Given the description of an element on the screen output the (x, y) to click on. 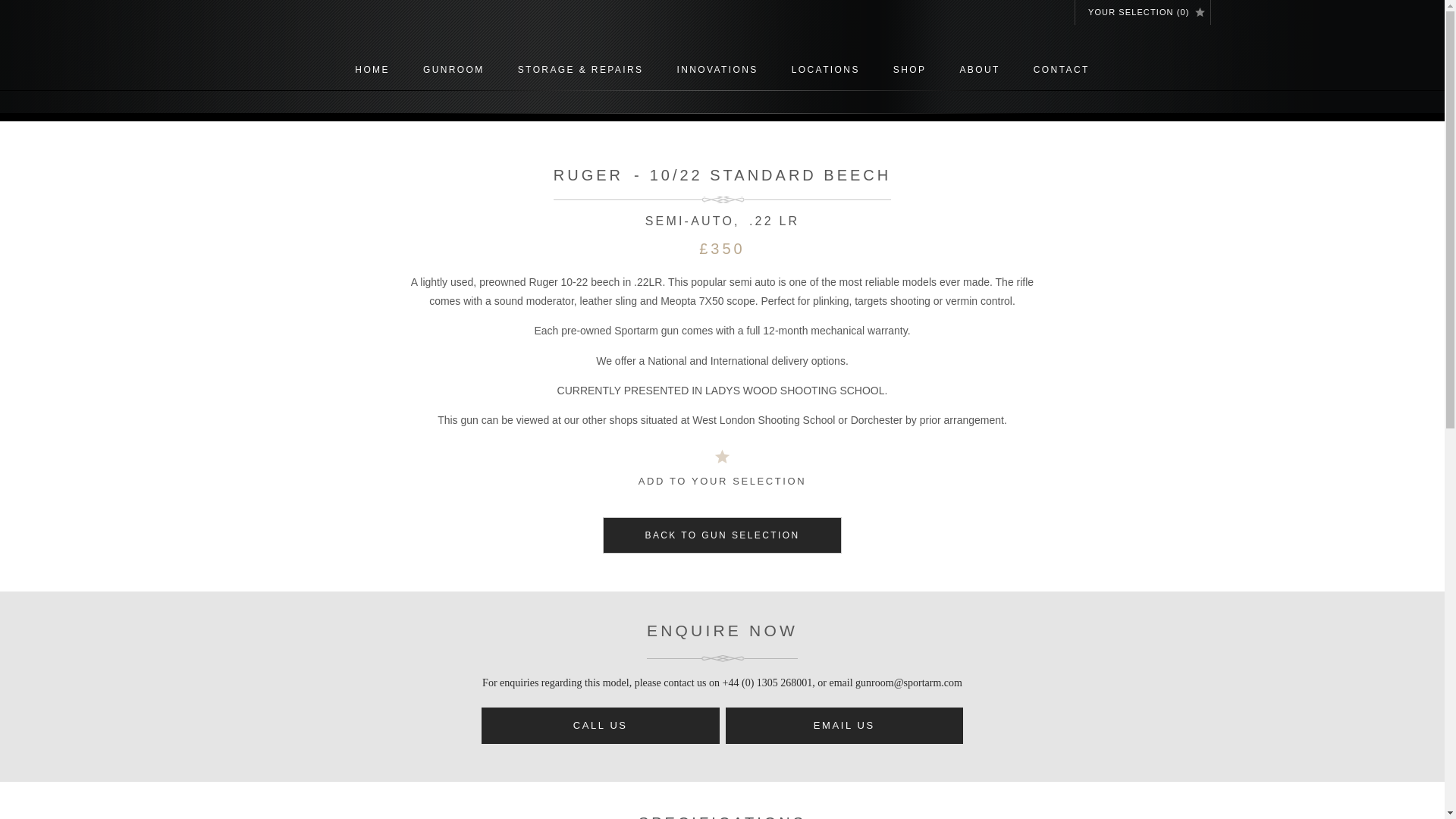
HOME (371, 71)
EMAIL US (843, 725)
LOCATIONS (825, 71)
GUNROOM (453, 71)
CONTACT (1061, 71)
ABOUT (978, 71)
BACK TO GUN SELECTION (721, 534)
INNOVATIONS (717, 71)
CALL US (600, 725)
SHOP (909, 71)
